Given the description of an element on the screen output the (x, y) to click on. 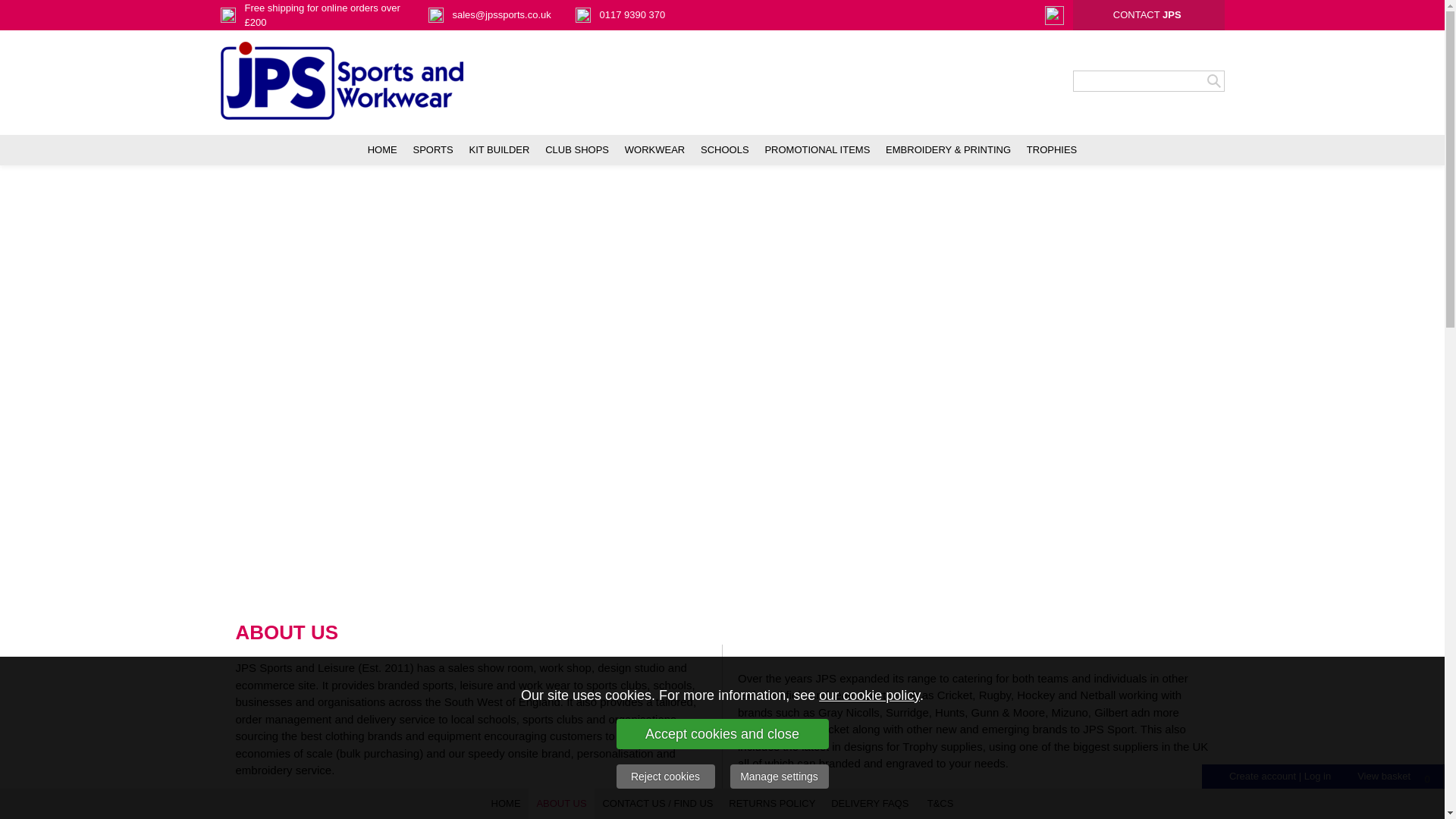
SPORTS (432, 150)
HOME (381, 150)
0117 9390 370 (631, 14)
CONTACT JPS (1146, 14)
